Given the description of an element on the screen output the (x, y) to click on. 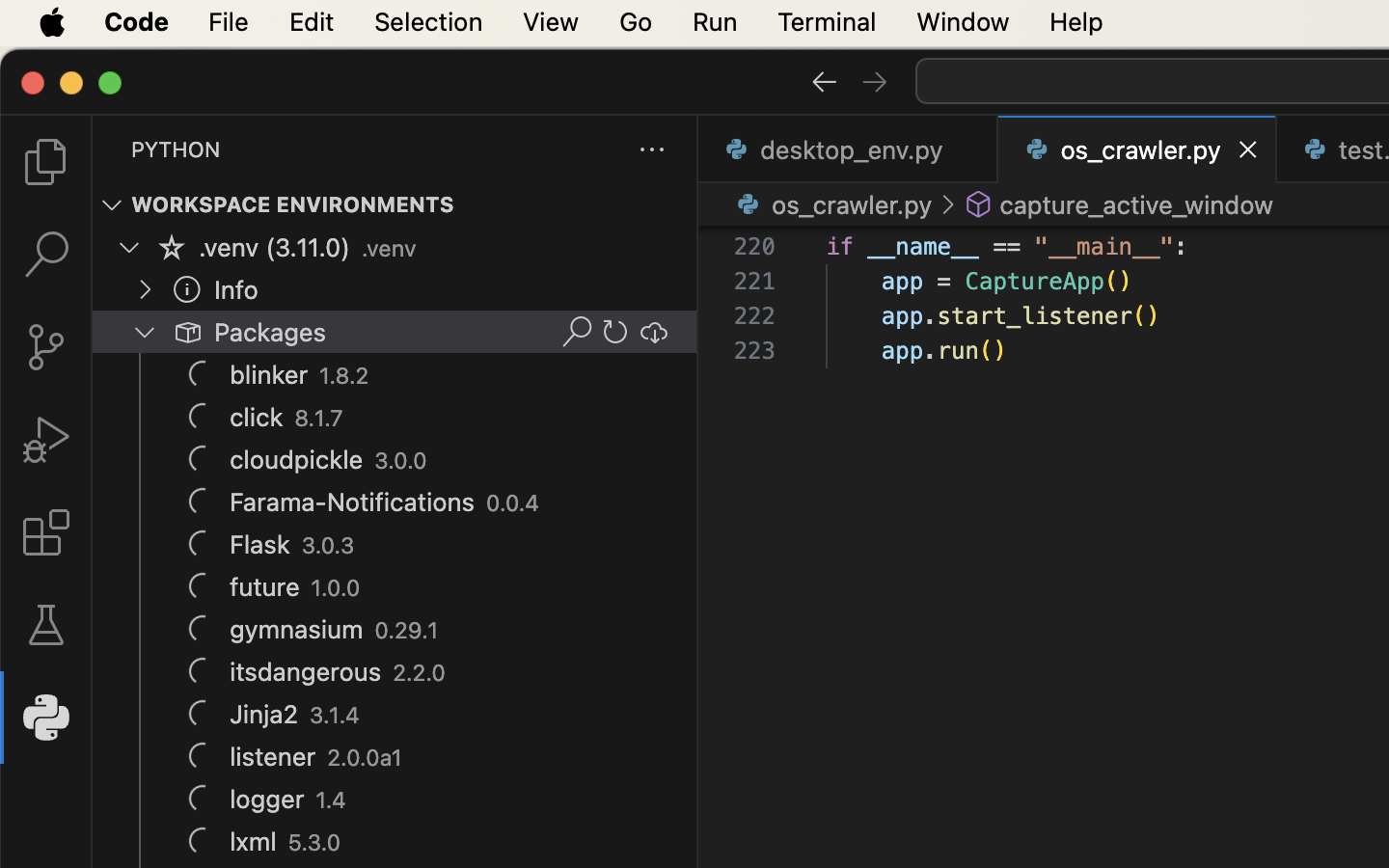
0 desktop_env.py   Element type: AXRadioButton (848, 149)
3.0.3 Element type: AXStaticText (327, 545)
 Element type: AXGroup (46, 161)
 Element type: AXStaticText (978, 204)
 Element type: AXGroup (46, 439)
